Given the description of an element on the screen output the (x, y) to click on. 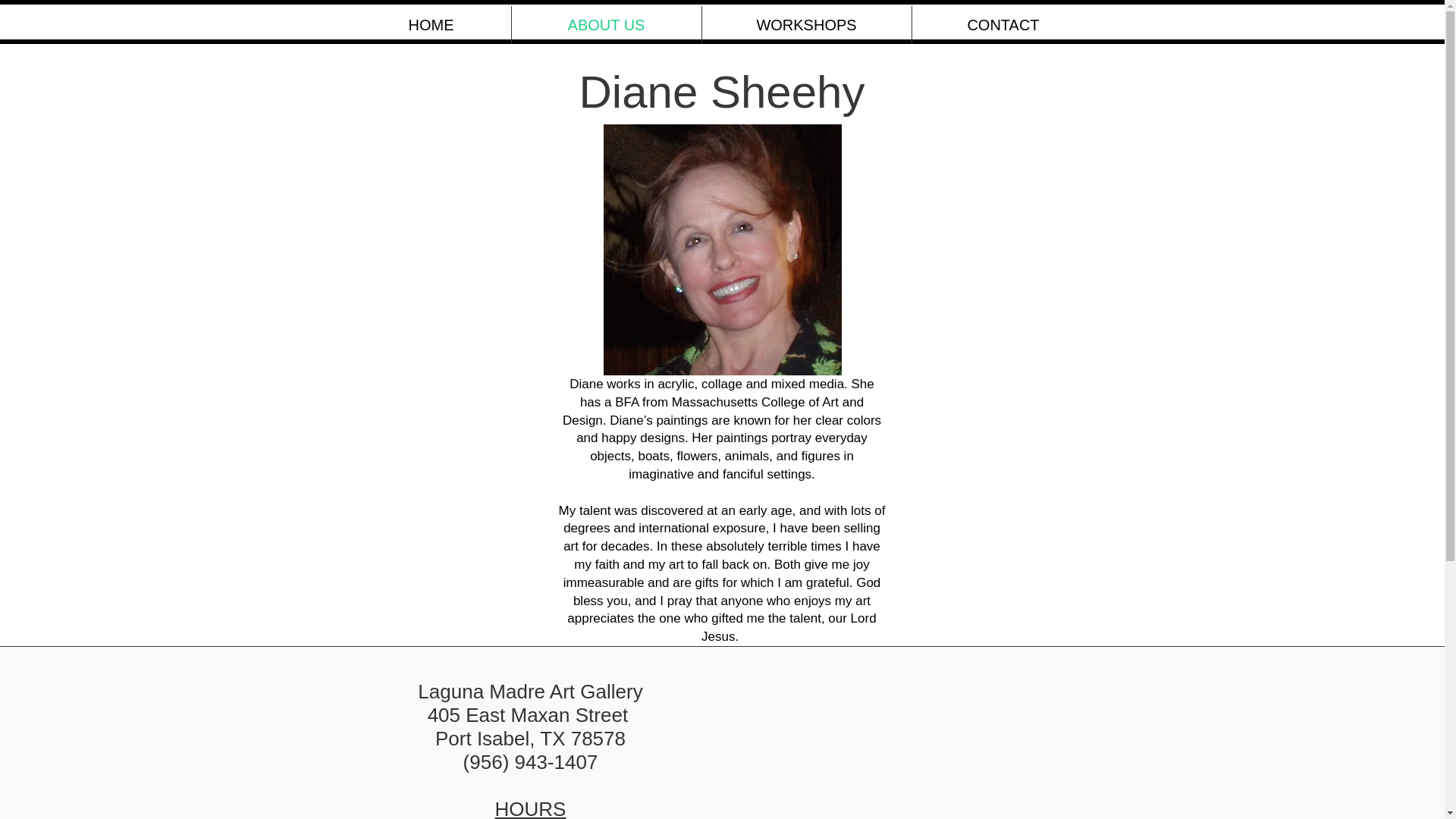
CONTACT (1002, 24)
WORKSHOPS (806, 24)
ABOUT US (605, 24)
HOME (431, 24)
